Given the description of an element on the screen output the (x, y) to click on. 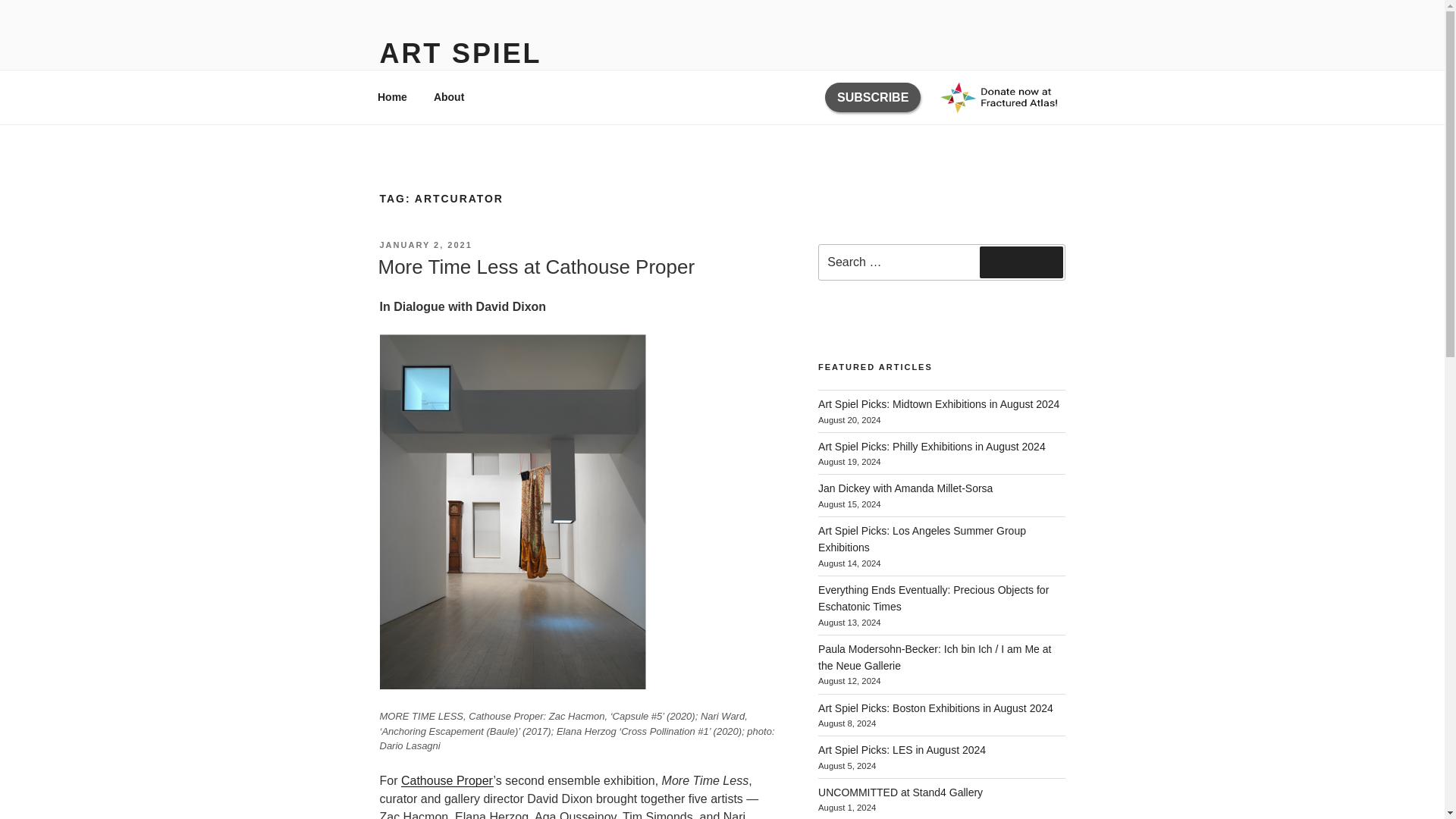
Home (392, 97)
JANUARY 2, 2021 (424, 244)
More Time Less at Cathouse Proper (535, 266)
Cathouse Proper (447, 780)
UNCOMMITTED at Stand4 Gallery (900, 792)
Art Spiel Picks: Midtown Exhibitions in August 2024 (938, 404)
Art Spiel Picks: Philly Exhibitions in August 2024 (931, 446)
SUBSCRIBE (872, 96)
Art Spiel Picks: Boston Exhibitions in August 2024 (935, 707)
